Given the description of an element on the screen output the (x, y) to click on. 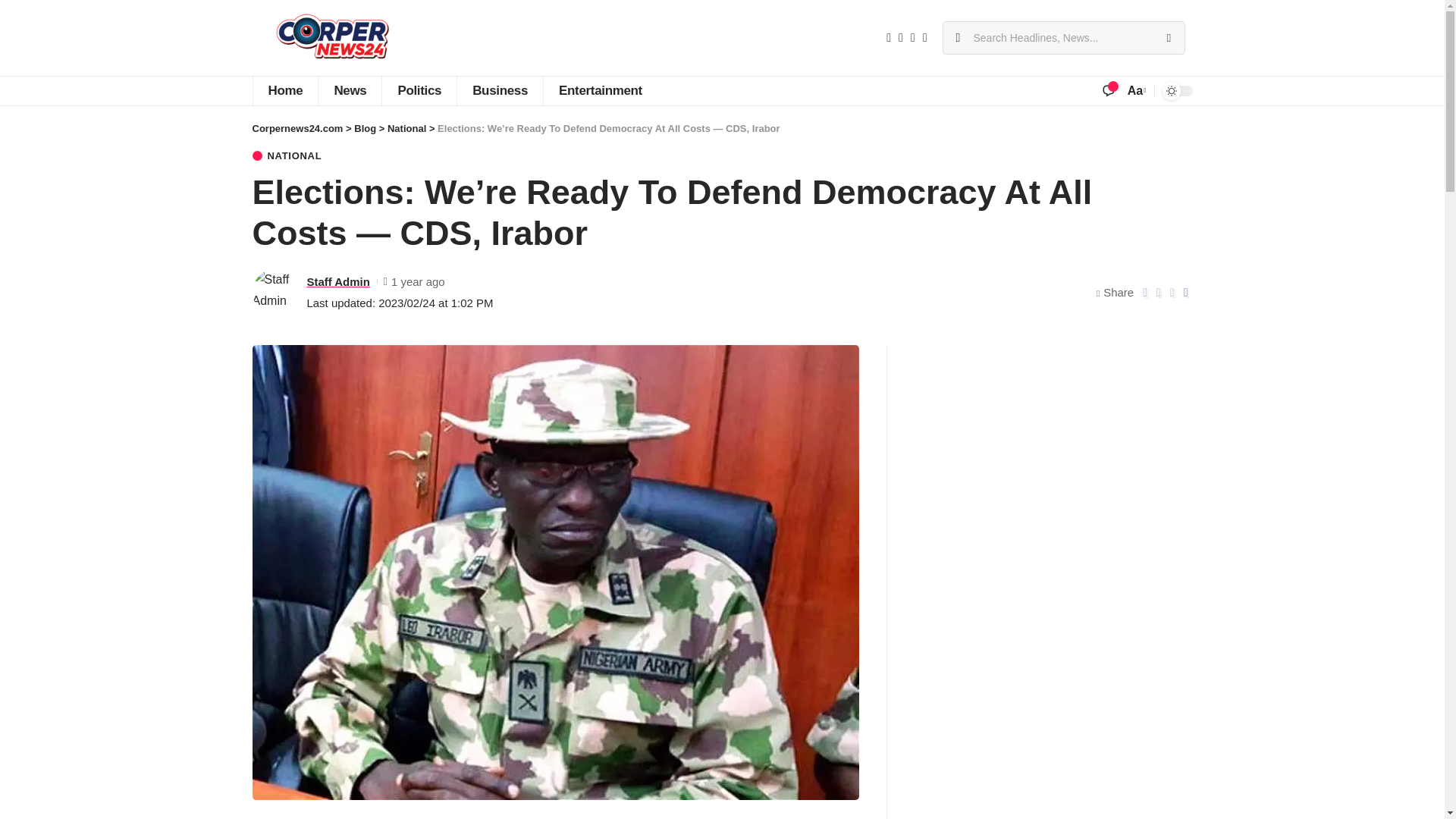
Corpernews24.com (331, 37)
Politics (419, 91)
Go to Blog. (364, 128)
Go to the National Category archives. (406, 128)
Aa (1135, 90)
Home (284, 91)
Entertainment (600, 91)
News (349, 91)
Business (500, 91)
Search (1168, 37)
Go to Corpernews24.com. (296, 128)
